Given the description of an element on the screen output the (x, y) to click on. 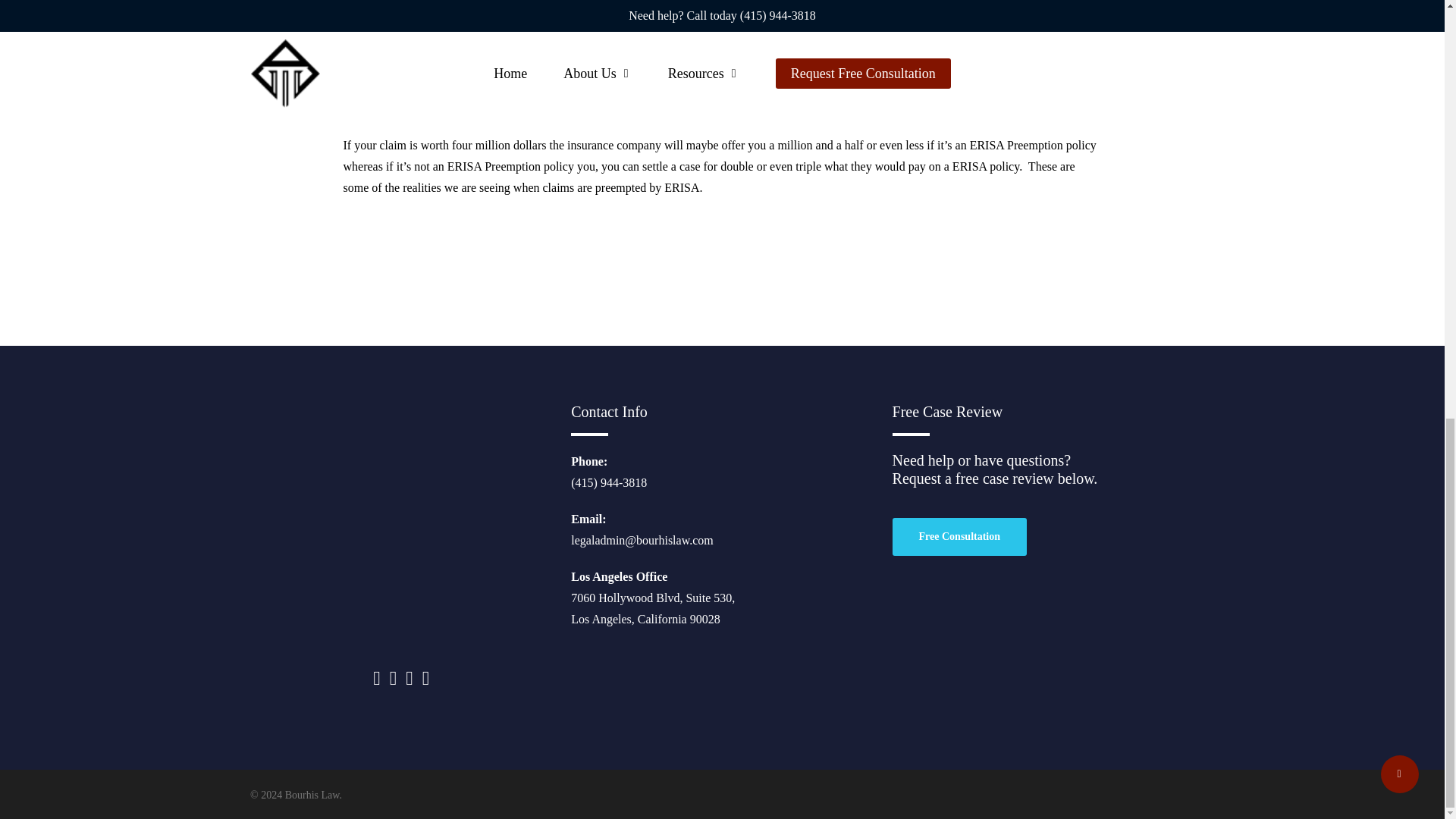
linkedin (411, 678)
yelp (425, 678)
facebook (395, 678)
twitter (376, 678)
